Given the description of an element on the screen output the (x, y) to click on. 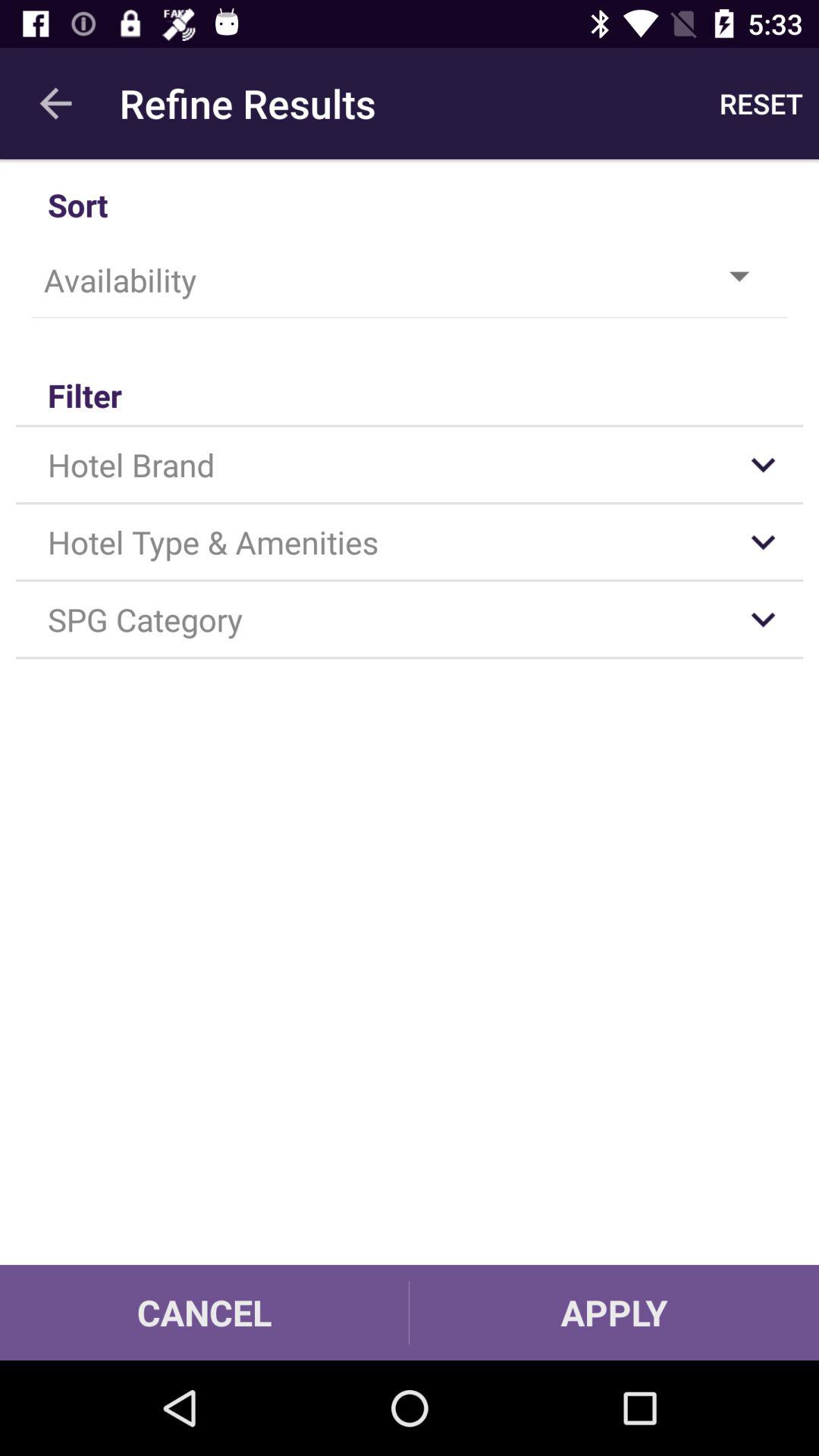
turn off the app next to the refine results item (55, 103)
